Given the description of an element on the screen output the (x, y) to click on. 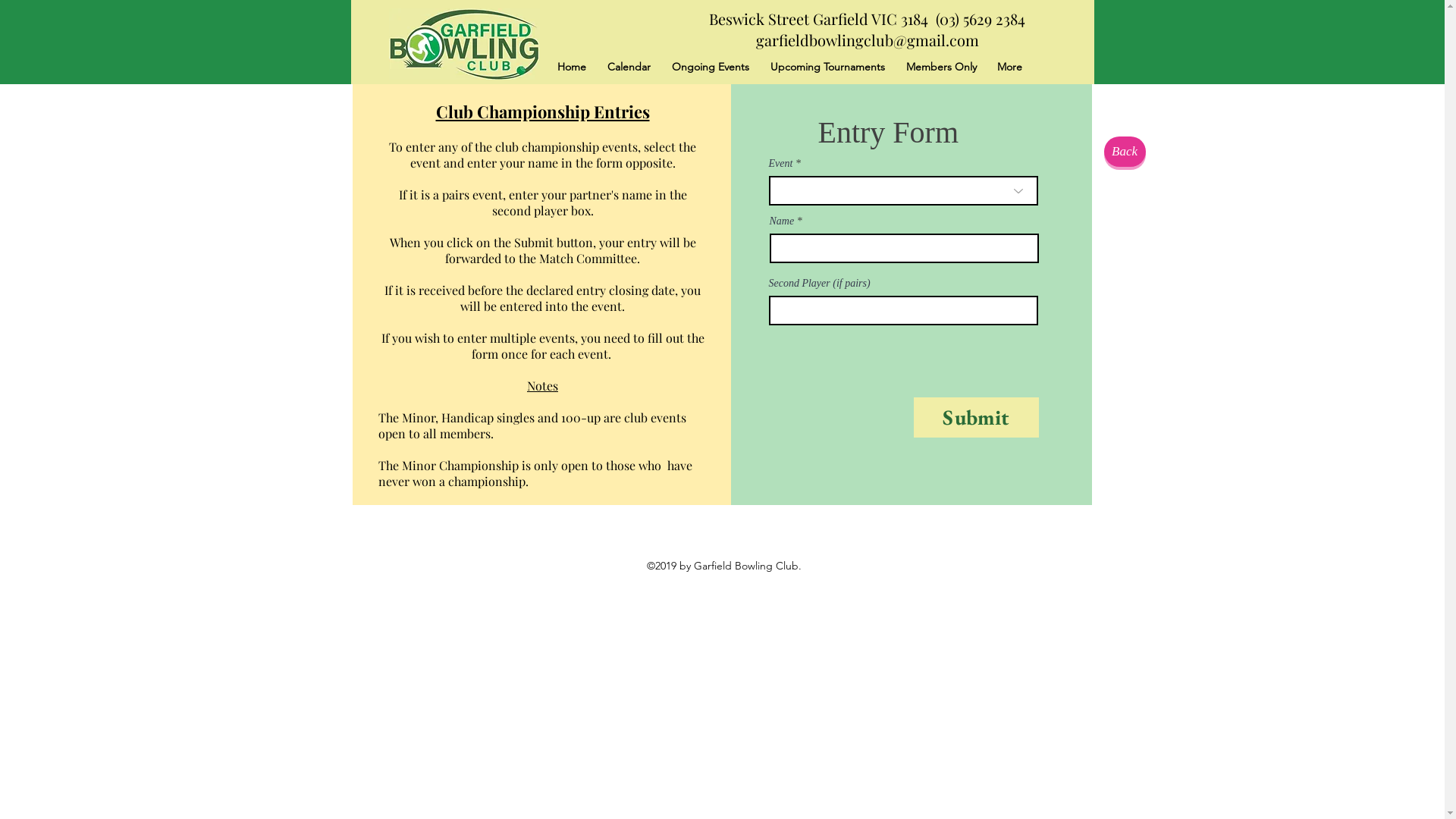
Ongoing Events Element type: text (710, 66)
Back Element type: text (1124, 151)
Members Only Element type: text (940, 66)
Submit Element type: text (975, 417)
Home Element type: text (571, 66)
Upcoming Tournaments Element type: text (827, 66)
Calendar Element type: text (628, 66)
